Given the description of an element on the screen output the (x, y) to click on. 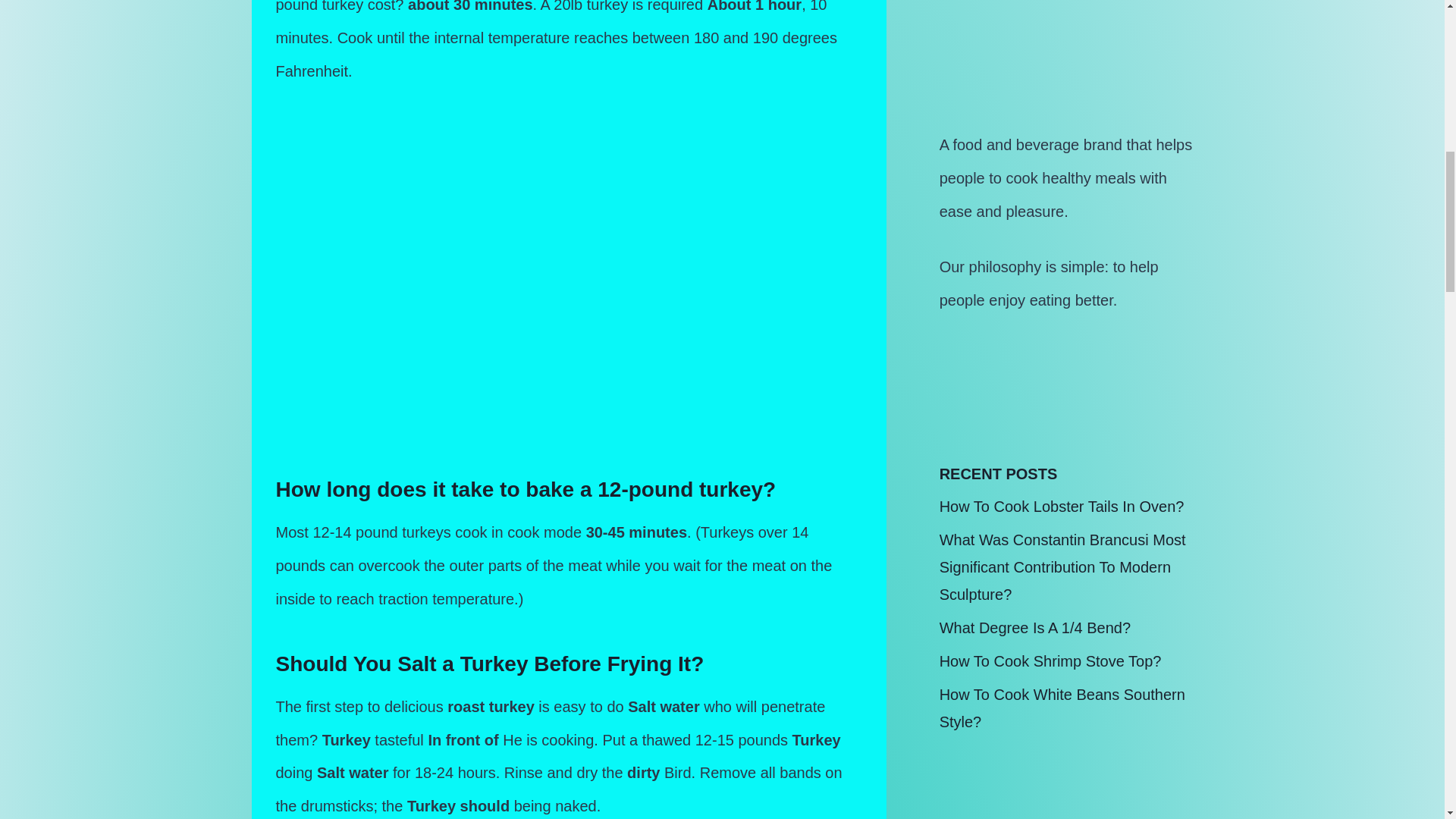
How To Cook Shrimp Stove Top? (1050, 660)
How To Cook White Beans Southern Style? (1062, 708)
How To Cook Lobster Tails In Oven? (1062, 506)
